Given the description of an element on the screen output the (x, y) to click on. 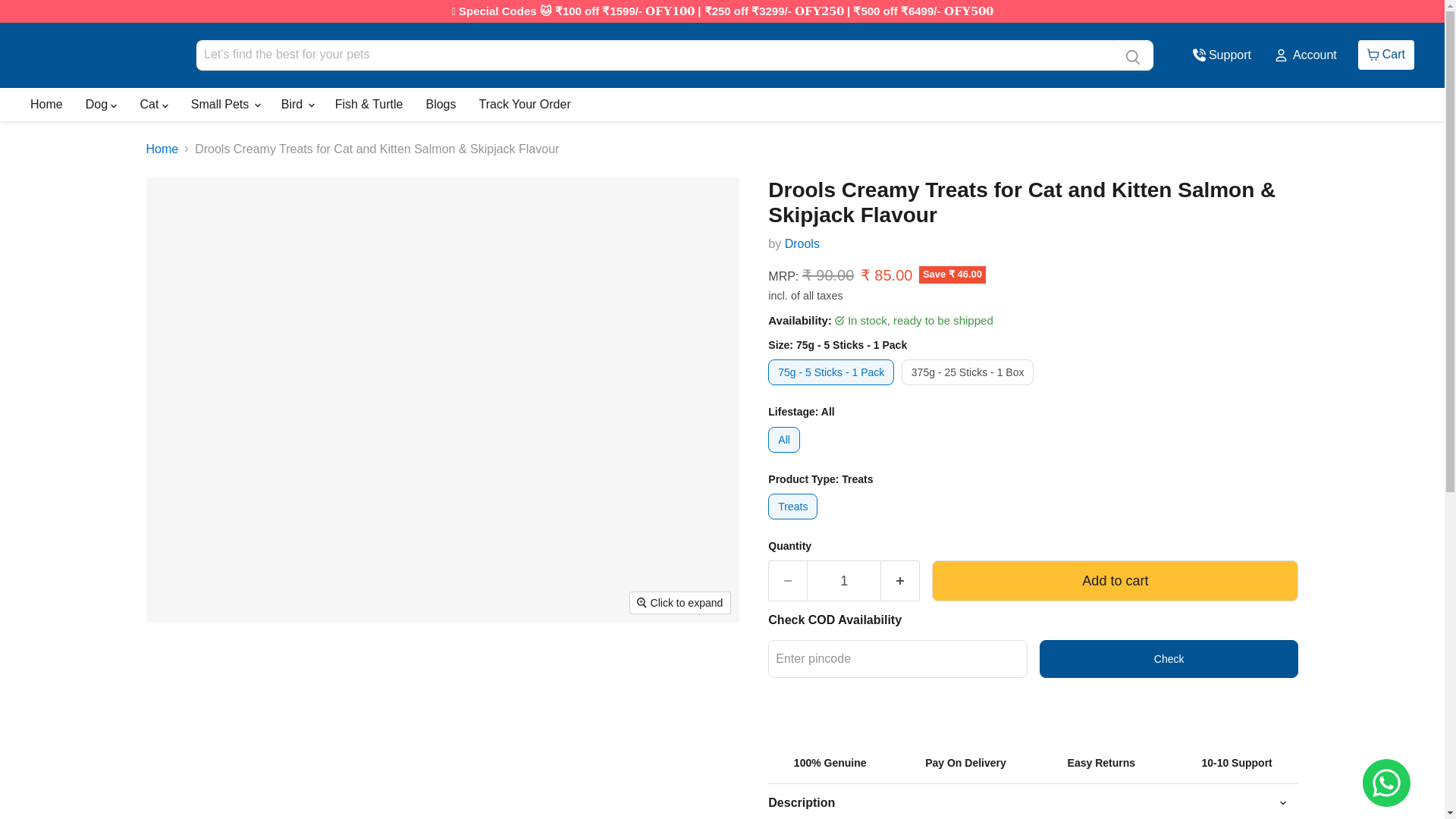
Home (46, 104)
Drools (1385, 54)
1 (801, 243)
